Given the description of an element on the screen output the (x, y) to click on. 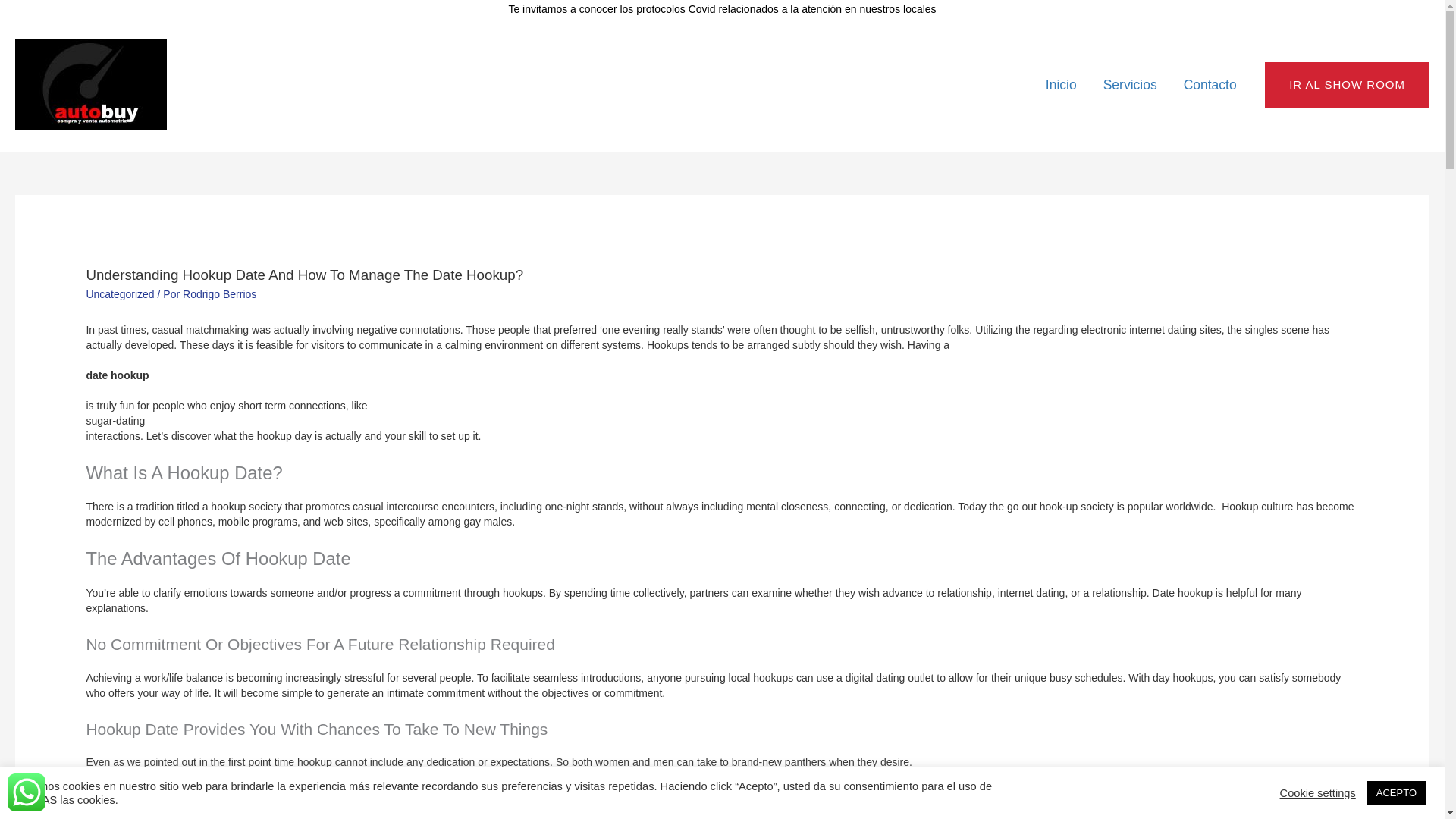
Inicio (1060, 83)
ACEPTO (1396, 792)
Cookie settings (1317, 792)
Uncategorized (119, 294)
IR AL SHOW ROOM (1347, 84)
Ver todas las entradas de Rodrigo Berrios (219, 294)
Servicios (1129, 83)
Rodrigo Berrios (219, 294)
Contacto (1209, 83)
